Given the description of an element on the screen output the (x, y) to click on. 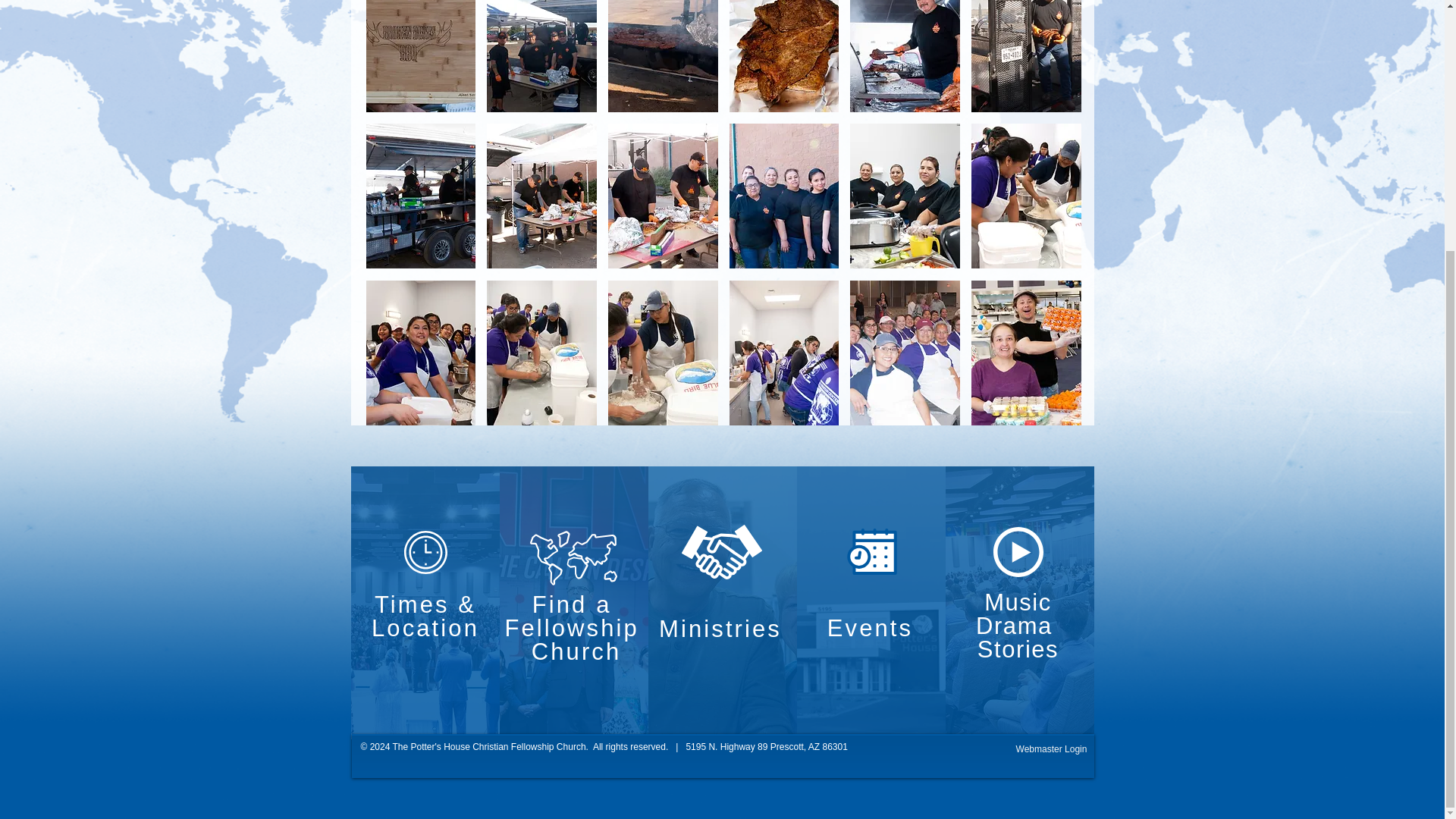
Webmaster Login (1051, 749)
